Given the description of an element on the screen output the (x, y) to click on. 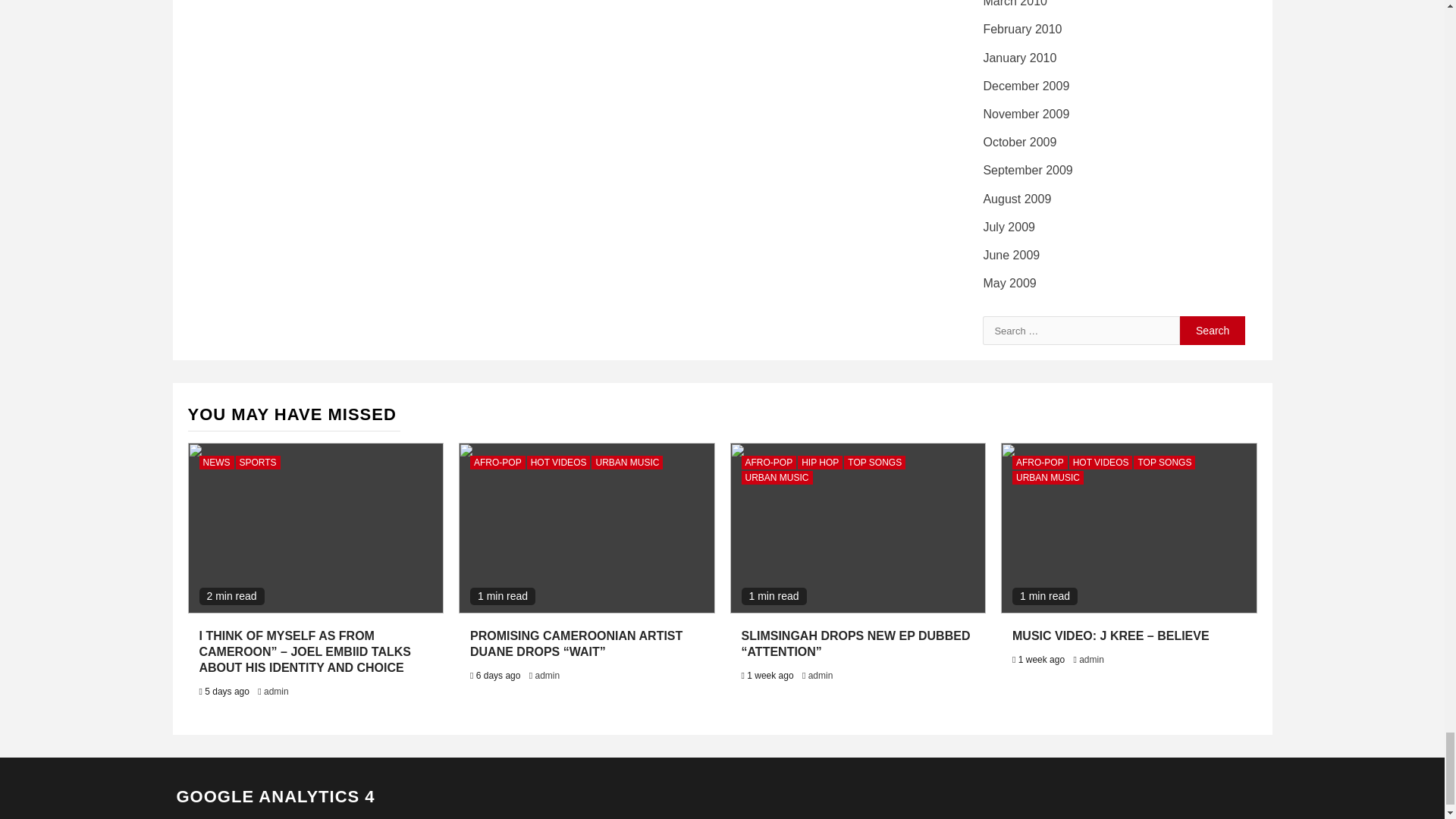
Search (1212, 330)
Search (1212, 330)
